Given the description of an element on the screen output the (x, y) to click on. 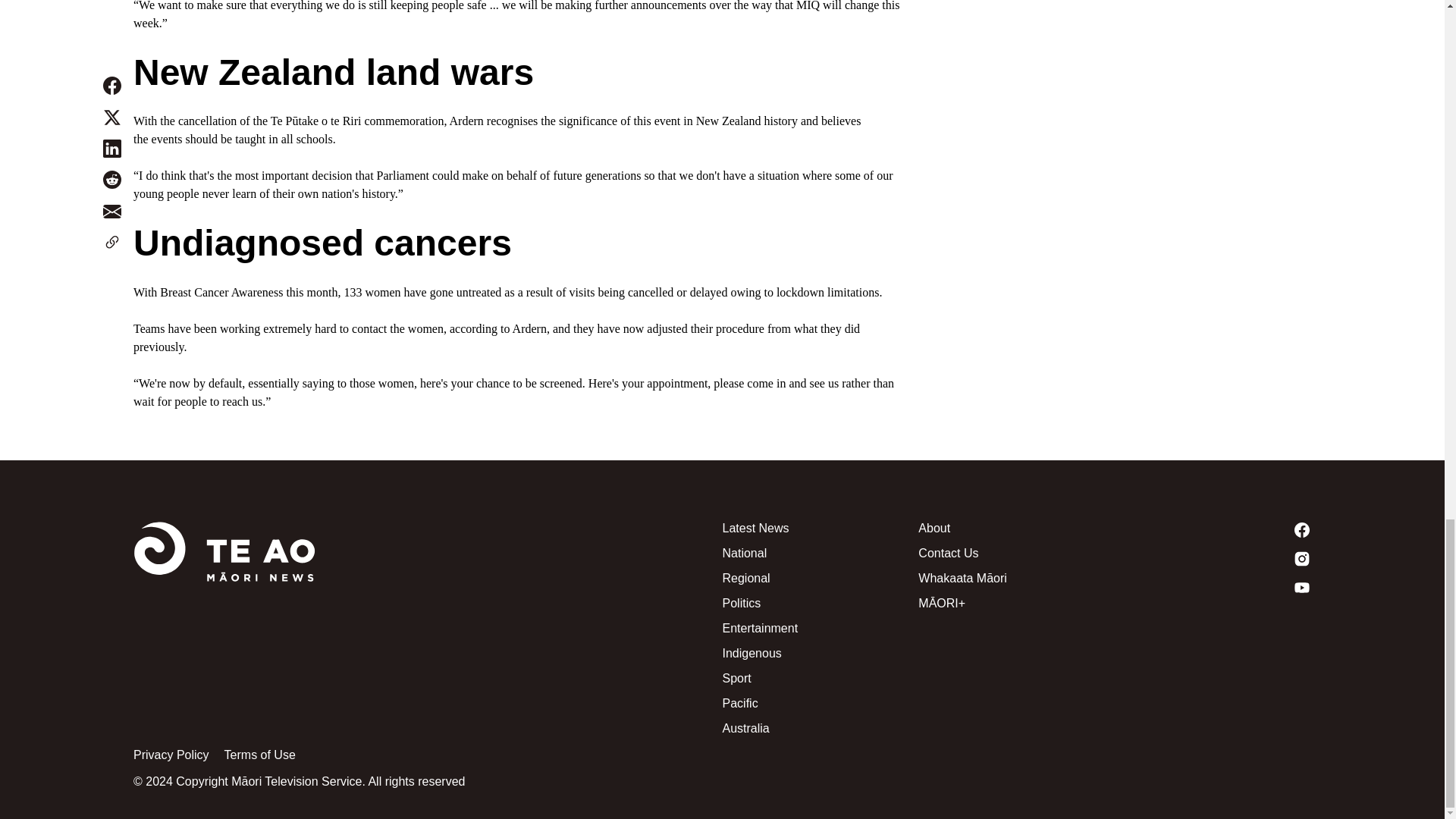
Instagram (1213, 558)
Youtube (1213, 587)
Facebook (1213, 529)
